Given the description of an element on the screen output the (x, y) to click on. 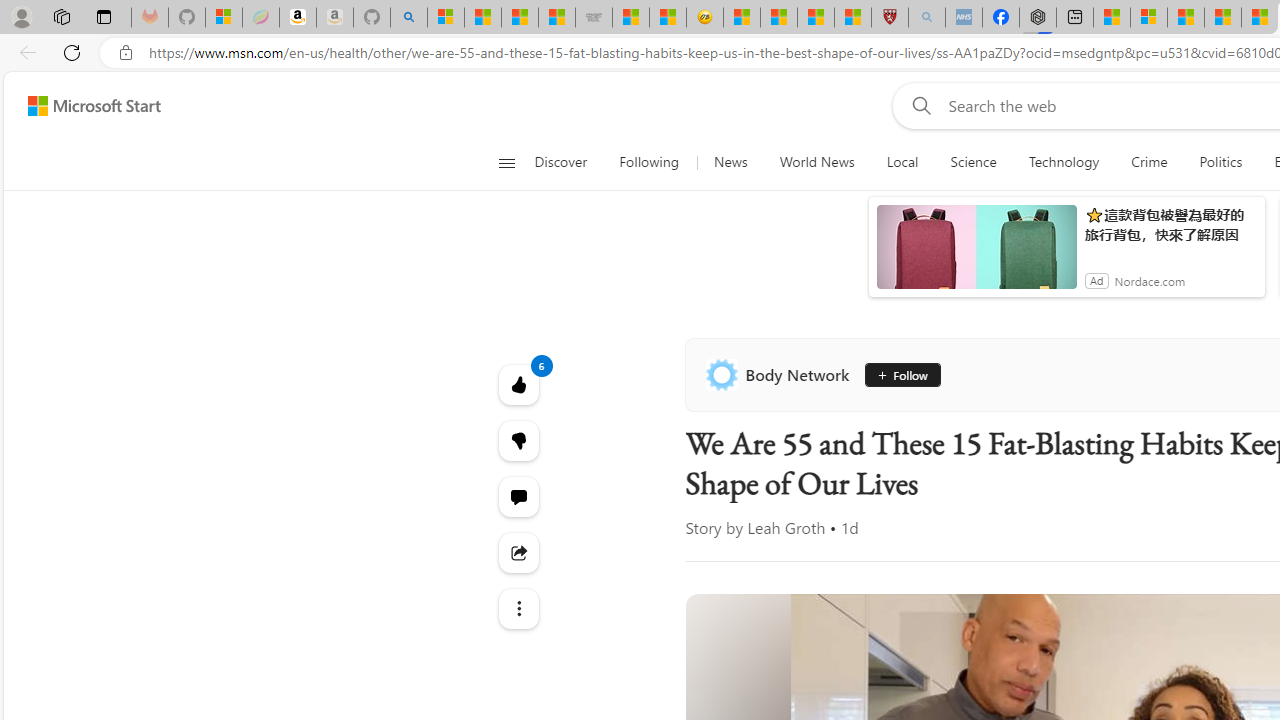
Body Network (781, 374)
